Given the description of an element on the screen output the (x, y) to click on. 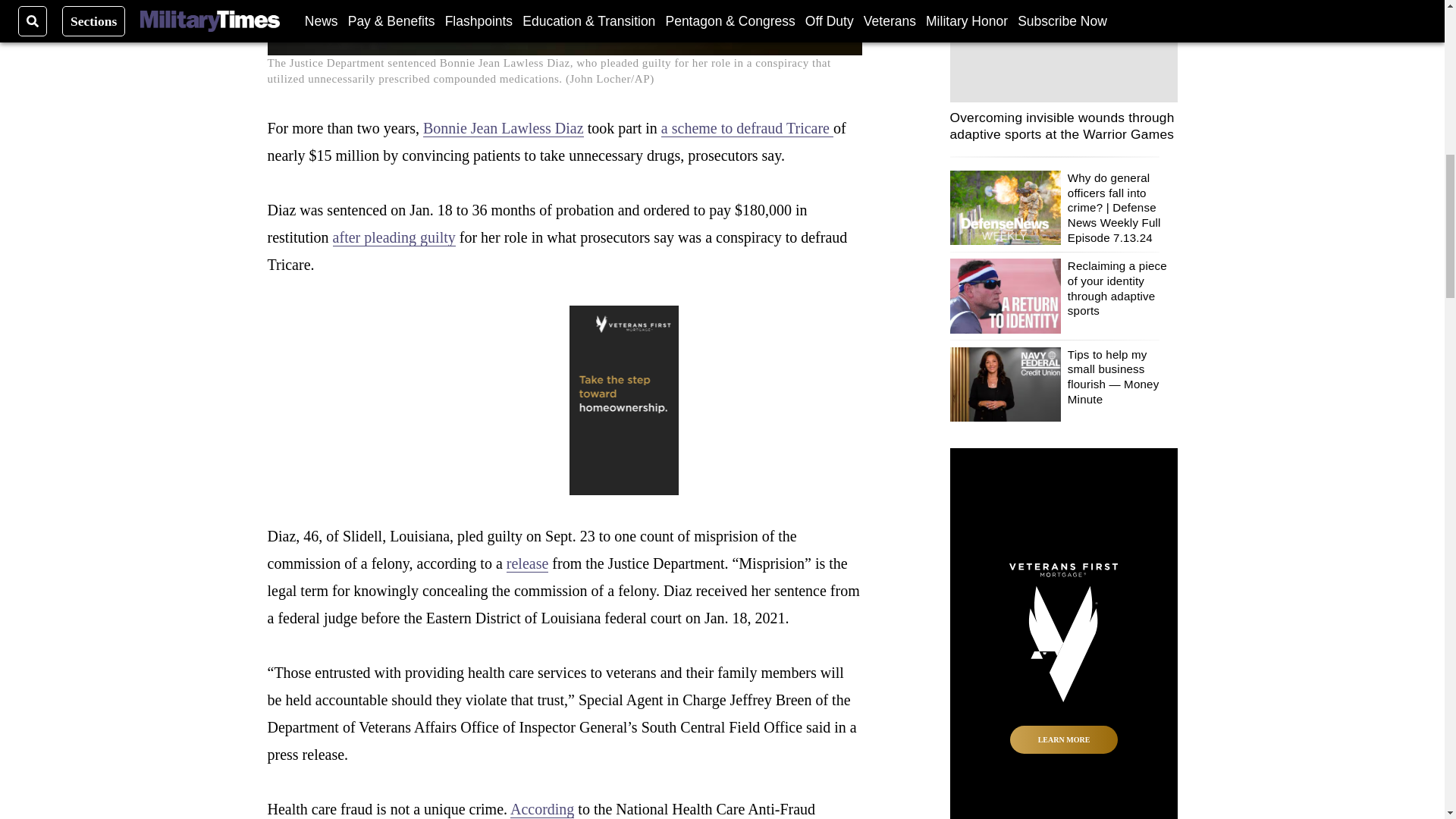
3rd party ad content (563, 400)
3rd party ad content (1062, 633)
